Given the description of an element on the screen output the (x, y) to click on. 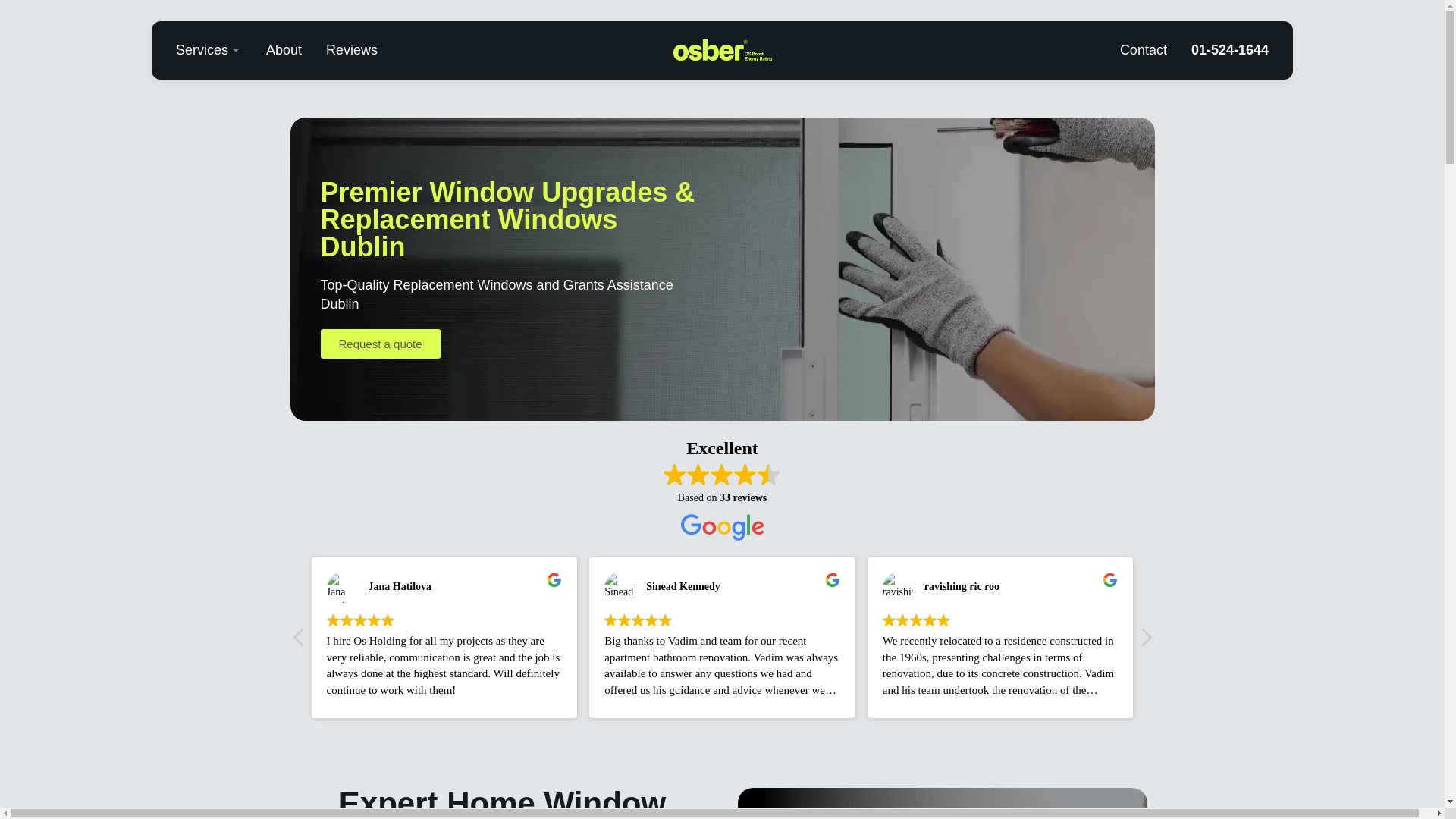
About (283, 50)
Reviews (352, 50)
Contact (1143, 50)
Services (208, 50)
01-524-1644 (1230, 50)
Request a quote (379, 343)
